Given the description of an element on the screen output the (x, y) to click on. 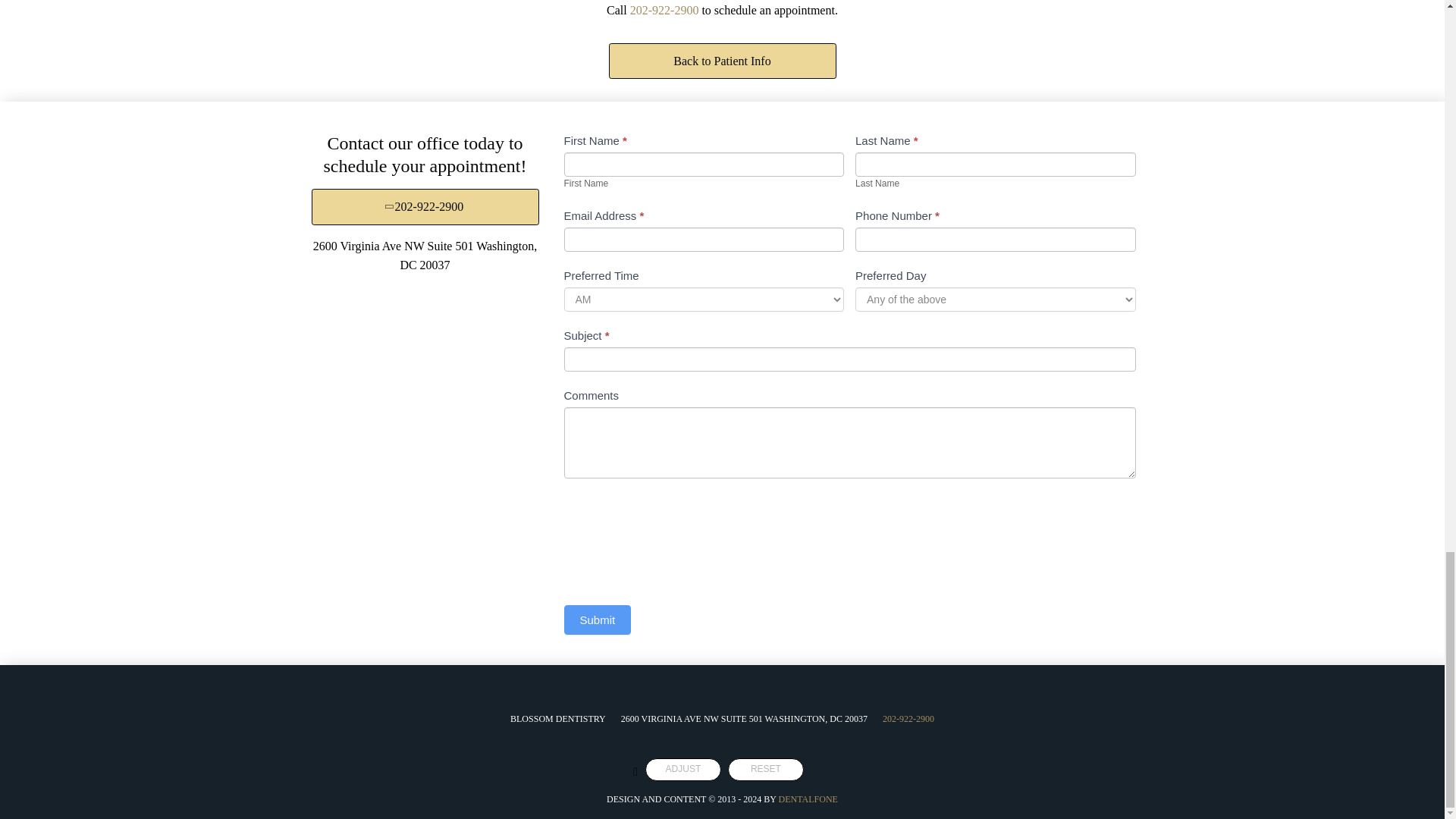
Submit (597, 619)
